Given the description of an element on the screen output the (x, y) to click on. 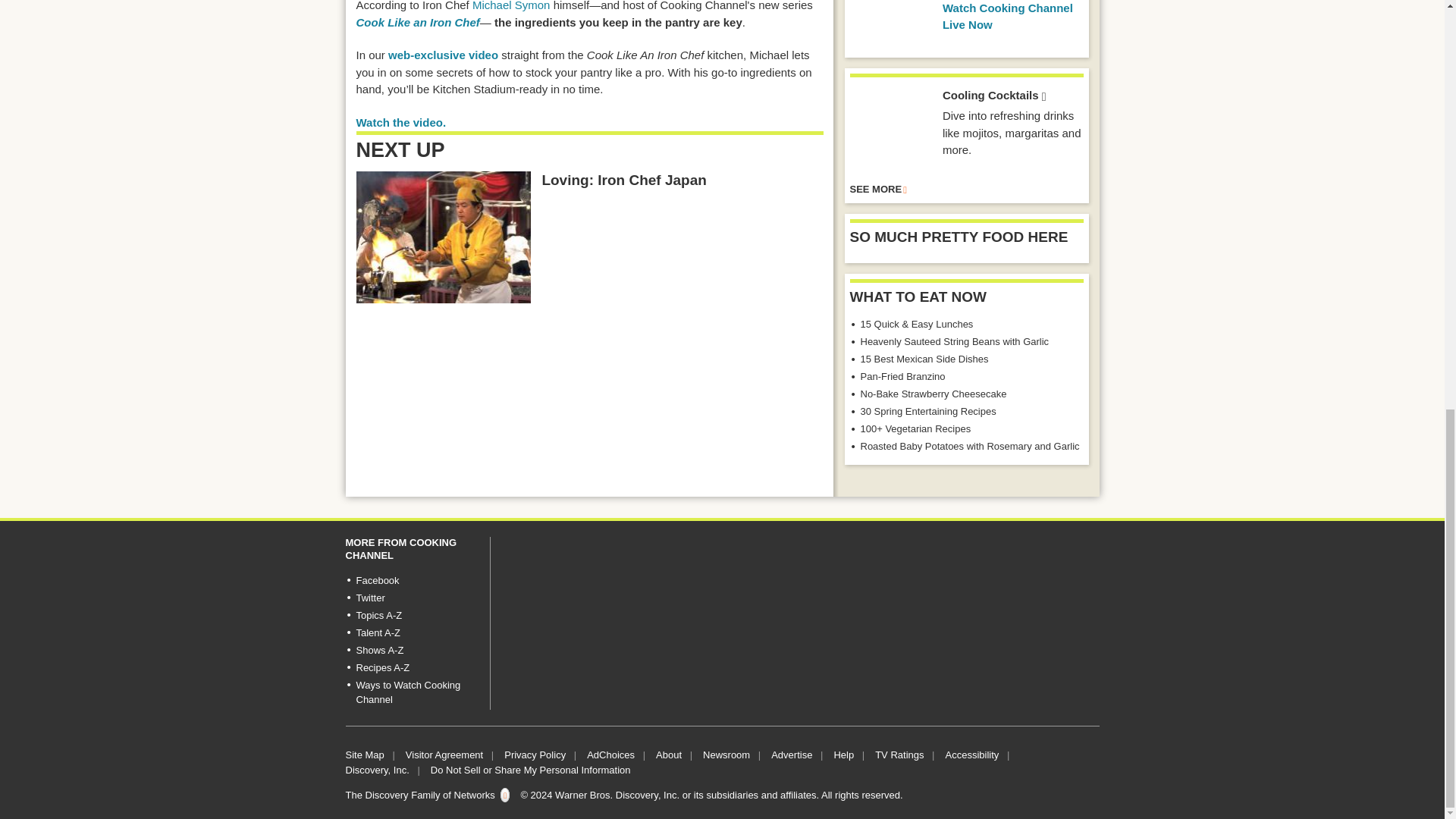
Cook Like an Iron Chef (418, 21)
Watch the video. (401, 122)
Cooling Cocktails (889, 128)
Michael Symon (510, 5)
web-exclusive video (442, 54)
Loving:  Iron Chef Japan (443, 237)
